Given the description of an element on the screen output the (x, y) to click on. 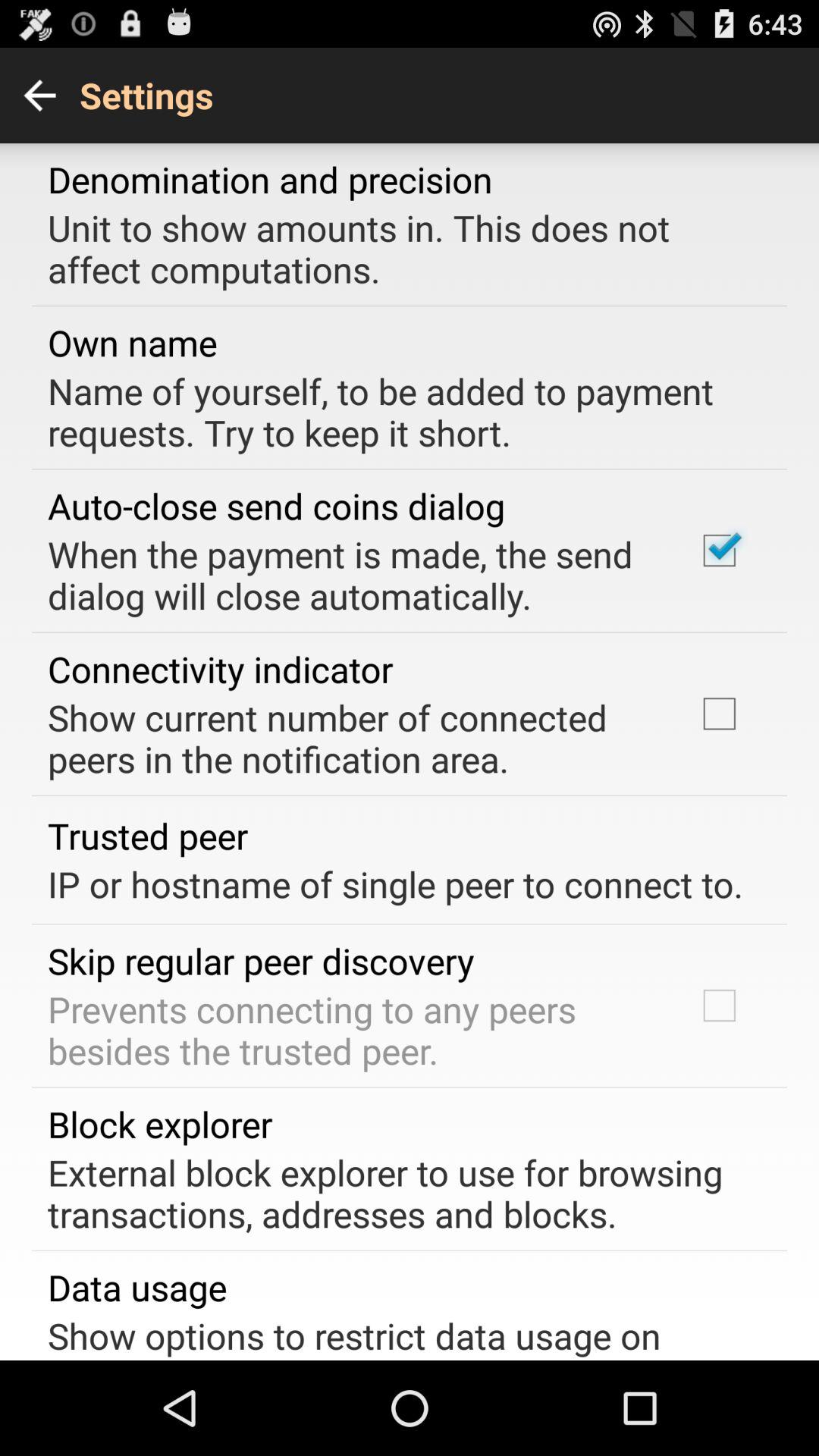
launch the icon below unit to show item (132, 342)
